Given the description of an element on the screen output the (x, y) to click on. 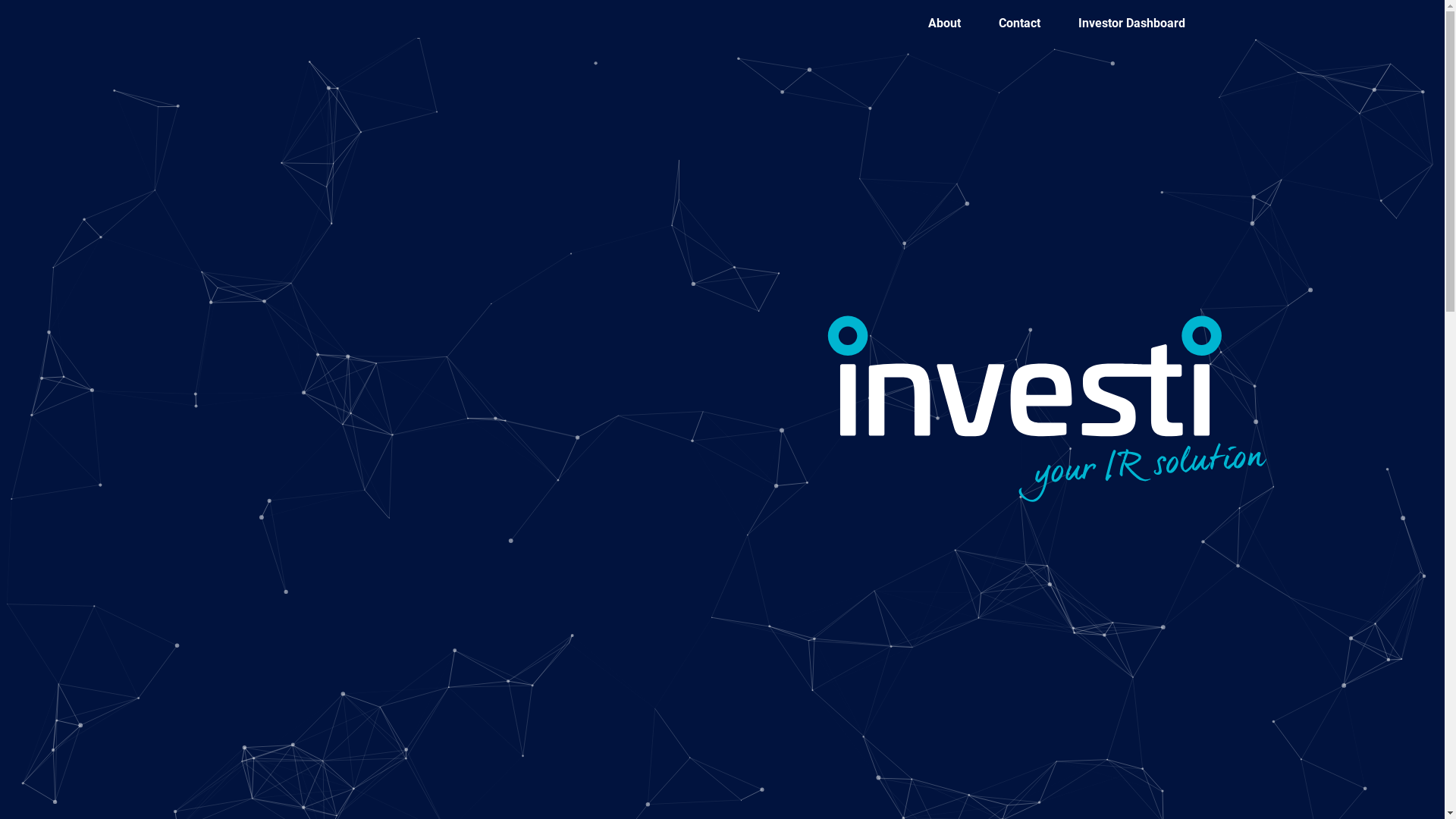
Contact Element type: text (1018, 23)
Investor Dashboard Element type: text (1131, 23)
About Element type: text (944, 23)
